Given the description of an element on the screen output the (x, y) to click on. 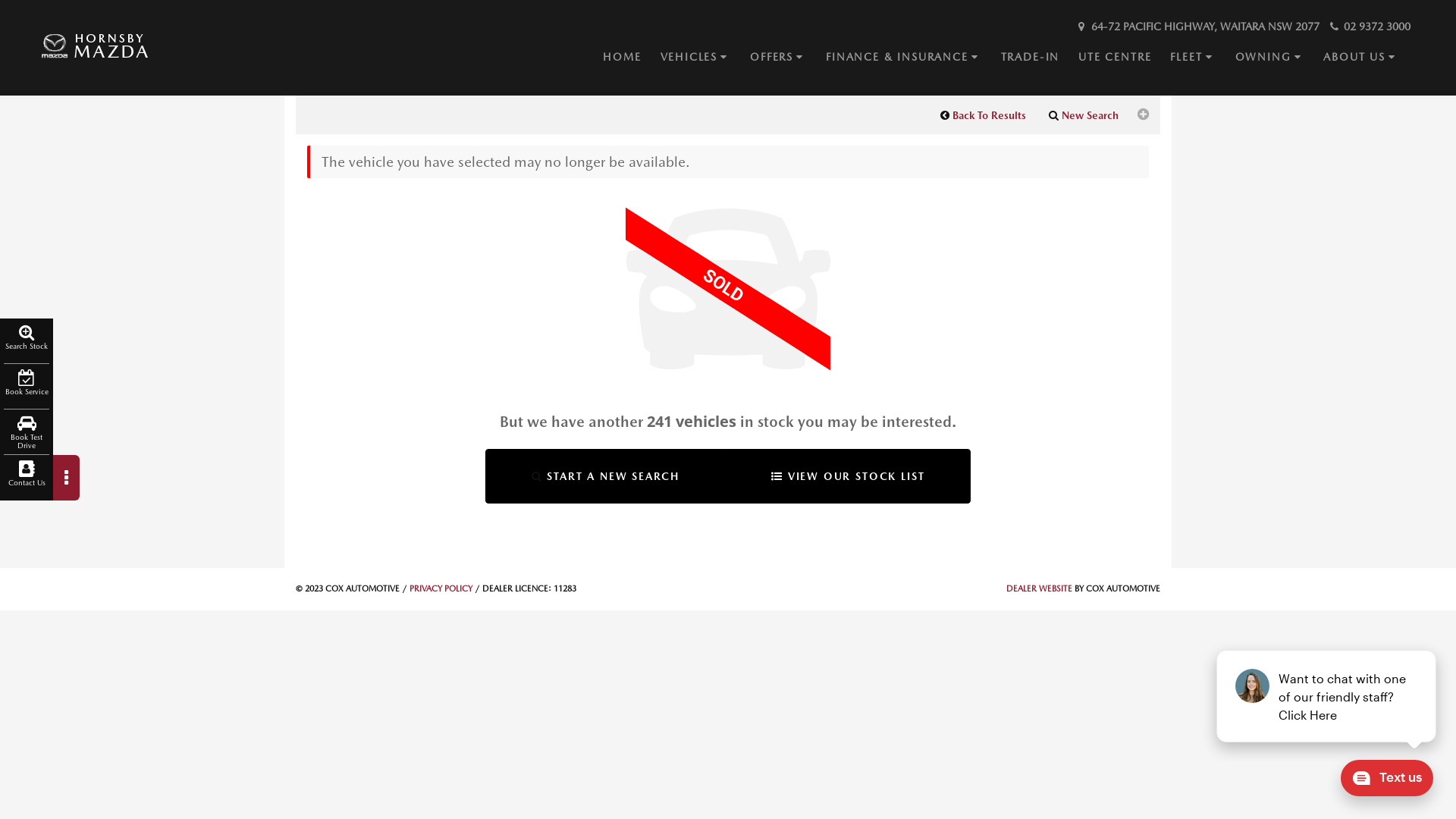
Contact Us Element type: text (26, 477)
ABOUT US Element type: text (1370, 56)
HOME Element type: text (630, 56)
OWNING Element type: text (1279, 56)
VEHICLES Element type: text (705, 56)
FLEET Element type: text (1202, 56)
02 9372 3000 Element type: text (1368, 26)
UTE CENTRE Element type: text (1124, 56)
VIEW OUR STOCK LIST Element type: text (847, 475)
FINANCE & INSURANCE Element type: text (913, 56)
DEALER WEBSITE Element type: text (1039, 588)
OFFERS Element type: text (787, 56)
Back To Results Element type: text (982, 115)
Book Service Element type: text (26, 386)
TRADE-IN Element type: text (1040, 56)
64-72 PACIFIC HIGHWAY, WAITARA NSW 2077 Element type: text (1196, 26)
Book Test Drive Element type: text (26, 432)
Search Stock Element type: text (26, 341)
START A NEW SEARCH Element type: text (605, 475)
PRIVACY POLICY Element type: text (440, 588)
New Search Element type: text (1083, 115)
